Given the description of an element on the screen output the (x, y) to click on. 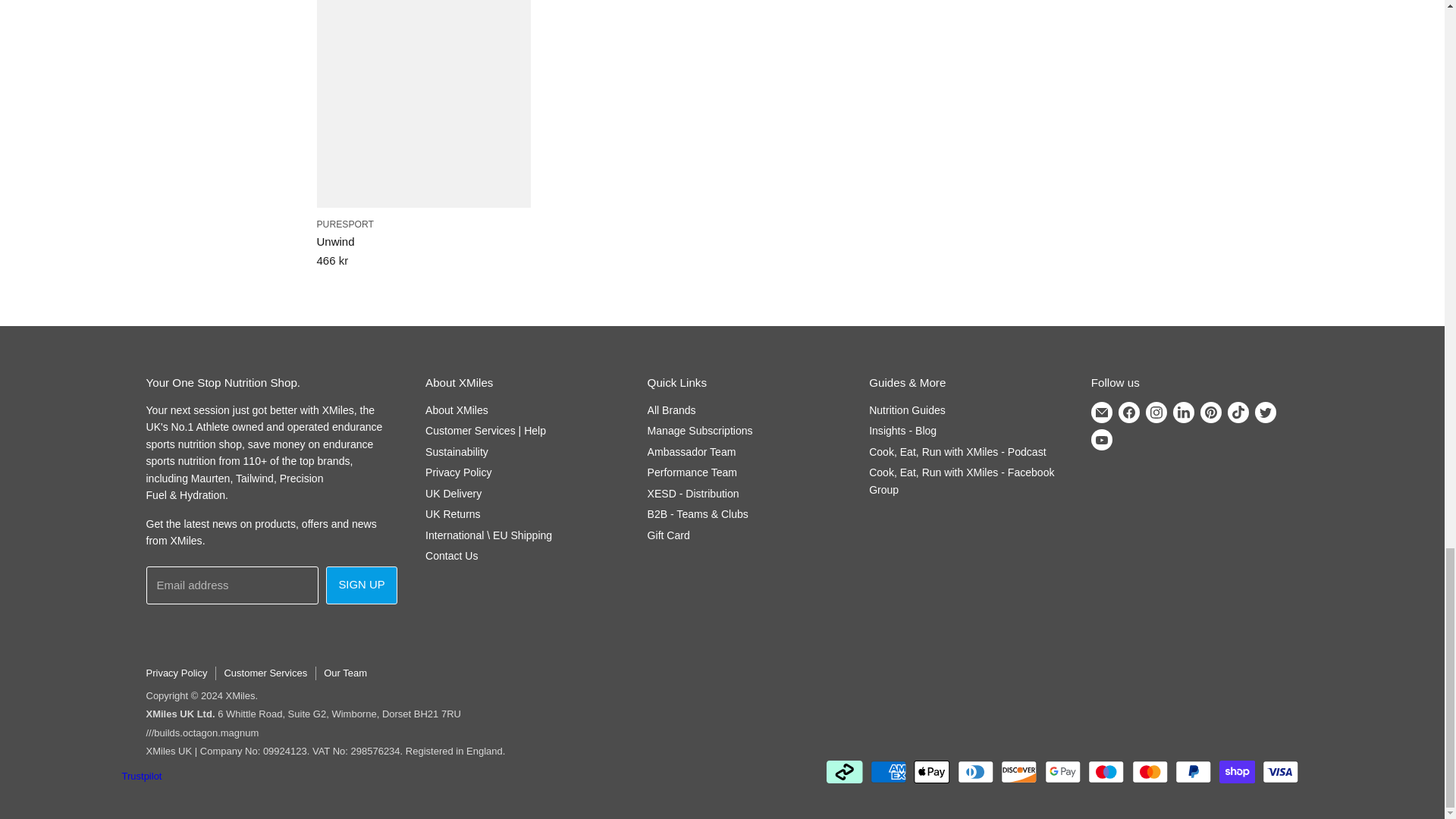
TikTok (1238, 411)
Instagram (1156, 411)
Pinterest (1210, 411)
Twitter (1265, 411)
E-mail (1101, 411)
LinkedIn (1183, 411)
Facebook (1128, 411)
